Given the description of an element on the screen output the (x, y) to click on. 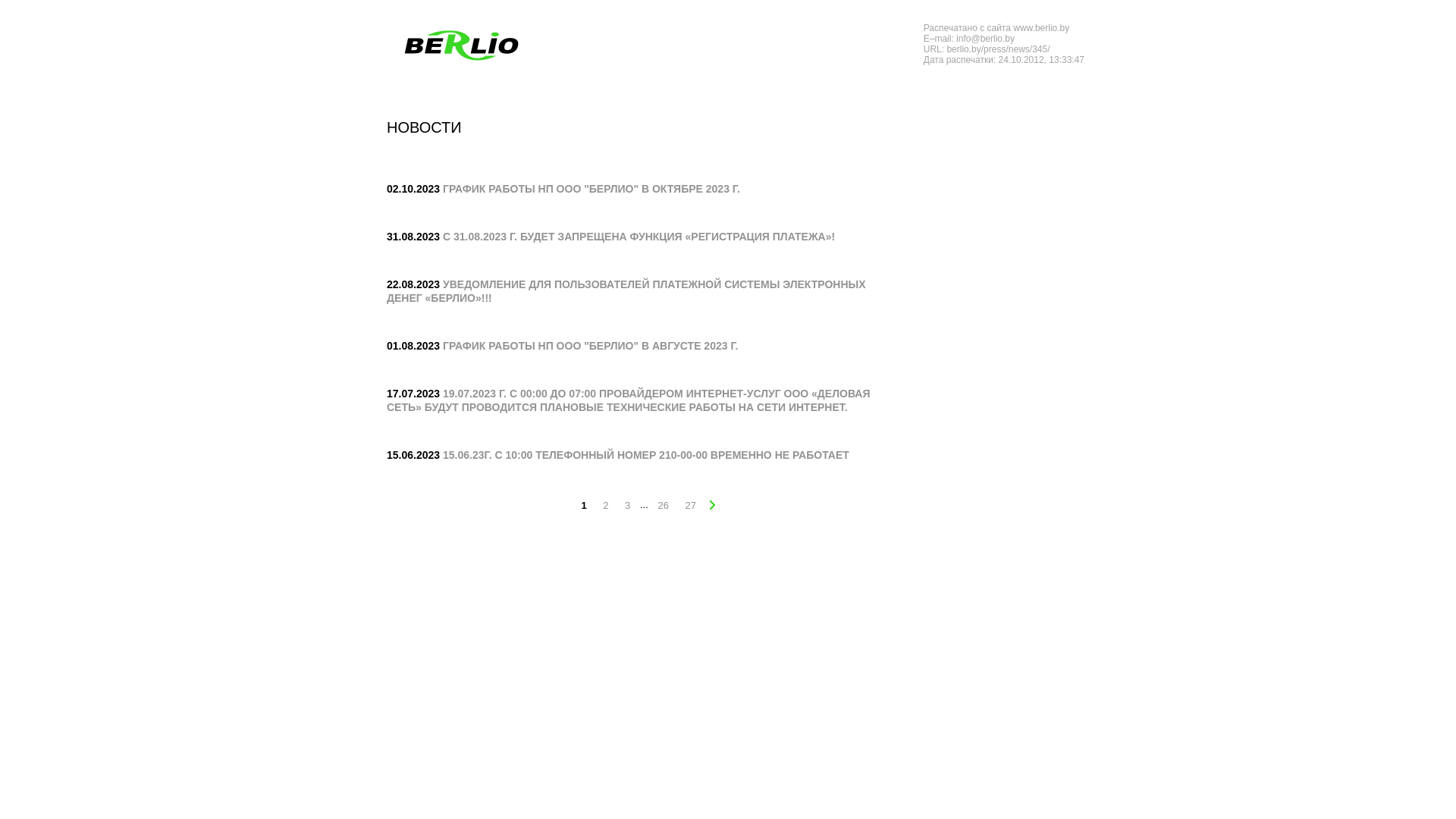
26 Element type: text (662, 505)
27 Element type: text (690, 505)
3 Element type: text (627, 505)
2 Element type: text (605, 505)
